Given the description of an element on the screen output the (x, y) to click on. 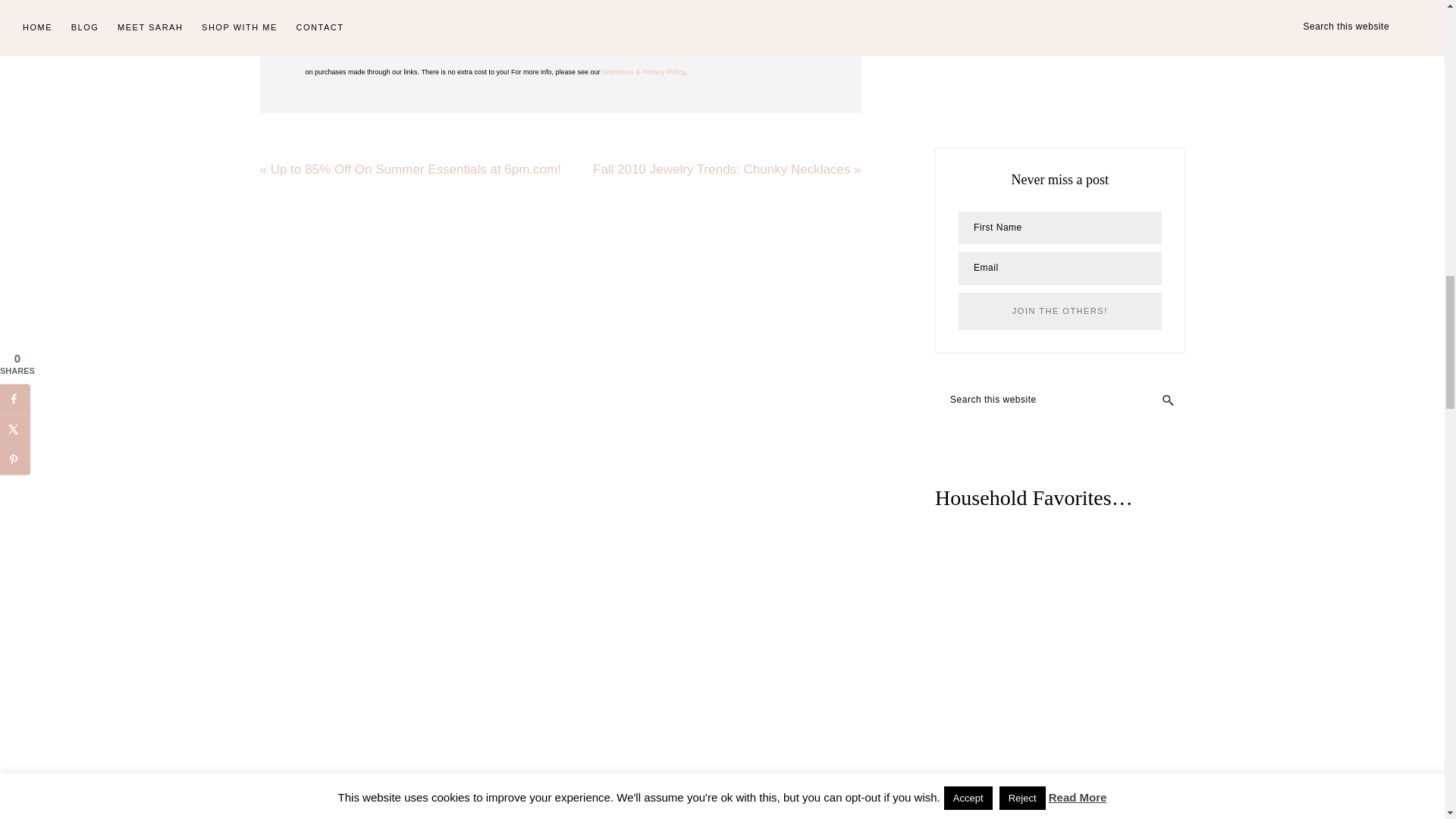
Join the Others! (1059, 311)
